Given the description of an element on the screen output the (x, y) to click on. 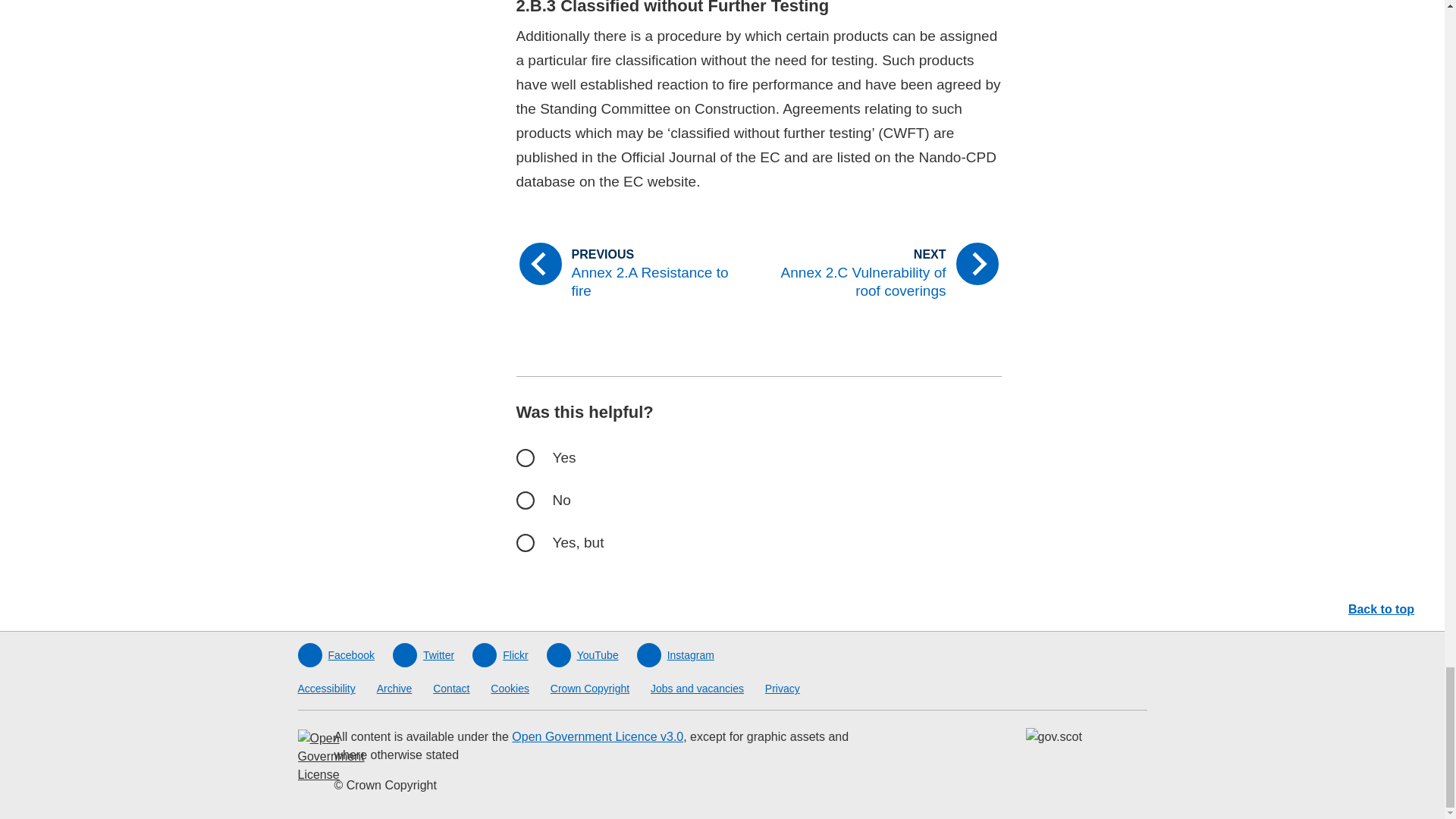
Previous section (630, 272)
Instagram (675, 654)
YouTube (582, 654)
Facebook (335, 654)
Flickr (499, 654)
Next section (885, 272)
Twitter (423, 654)
